Given the description of an element on the screen output the (x, y) to click on. 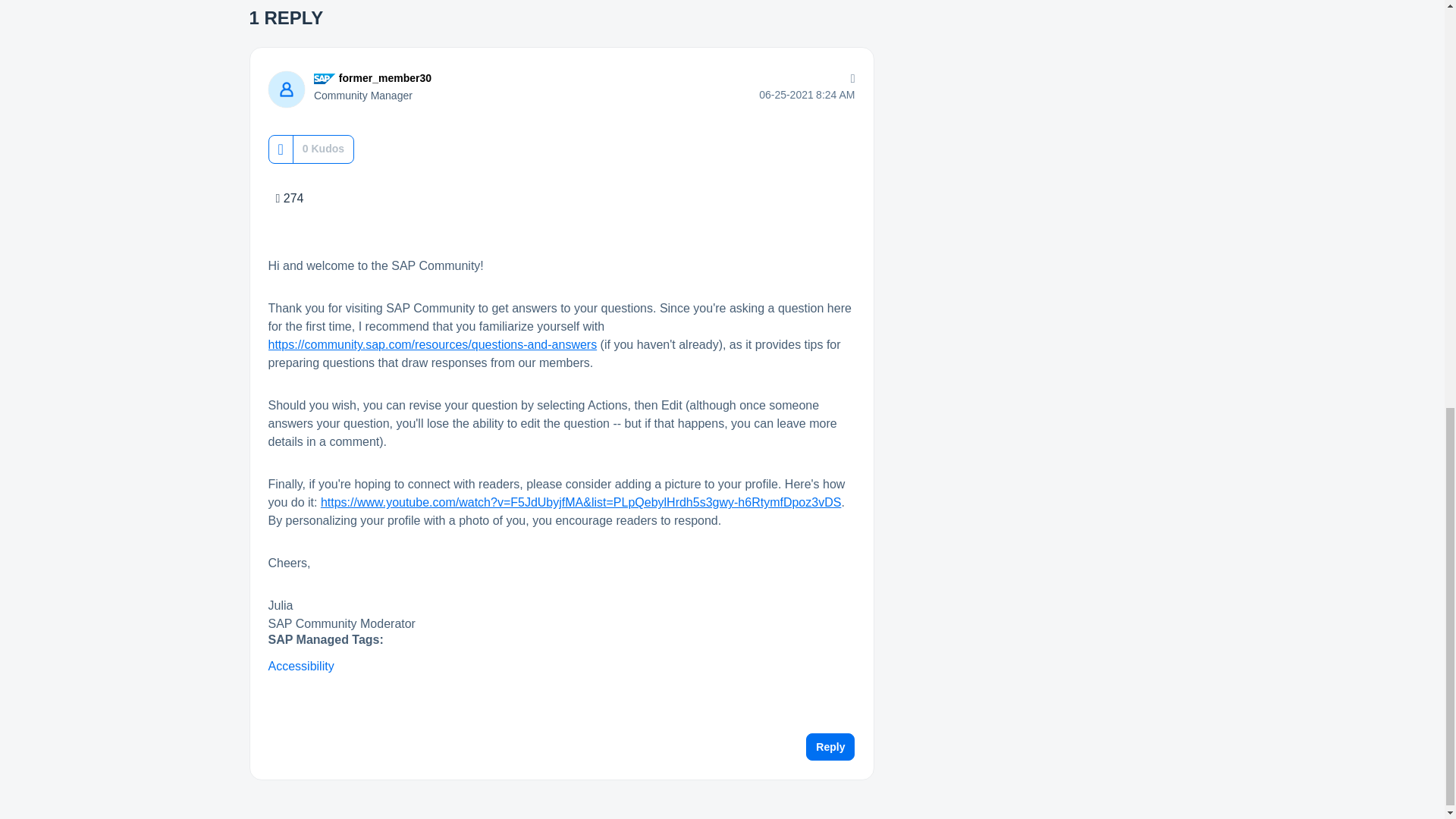
Options (850, 78)
